Given the description of an element on the screen output the (x, y) to click on. 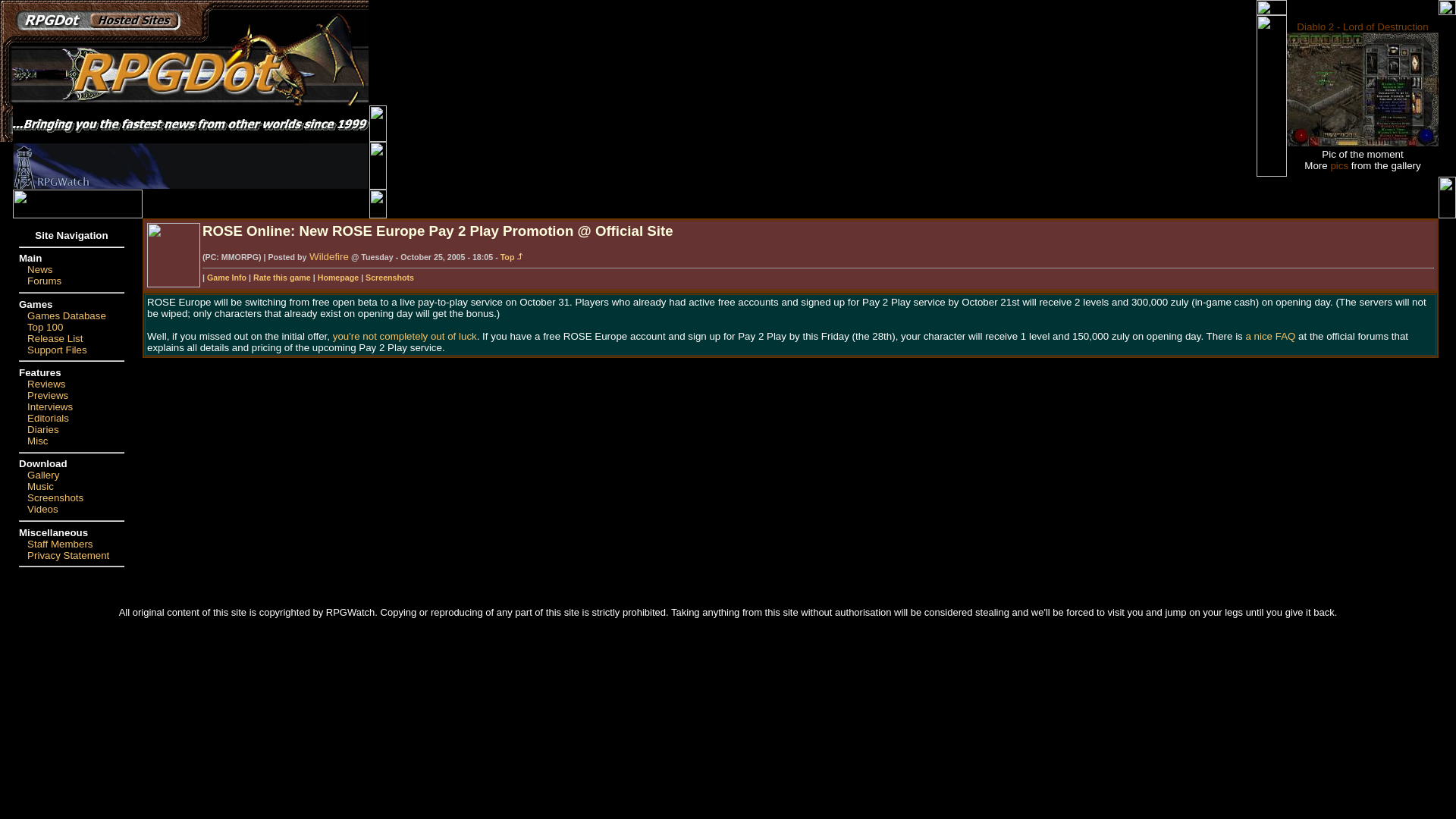
News (39, 269)
Gallery (43, 474)
Privacy Statement (68, 555)
pics (1339, 164)
Screenshots (54, 497)
a nice FAQ (1269, 336)
you're not completely out of luck (405, 336)
Editorials (47, 418)
Videos (42, 509)
Music (40, 486)
